Given the description of an element on the screen output the (x, y) to click on. 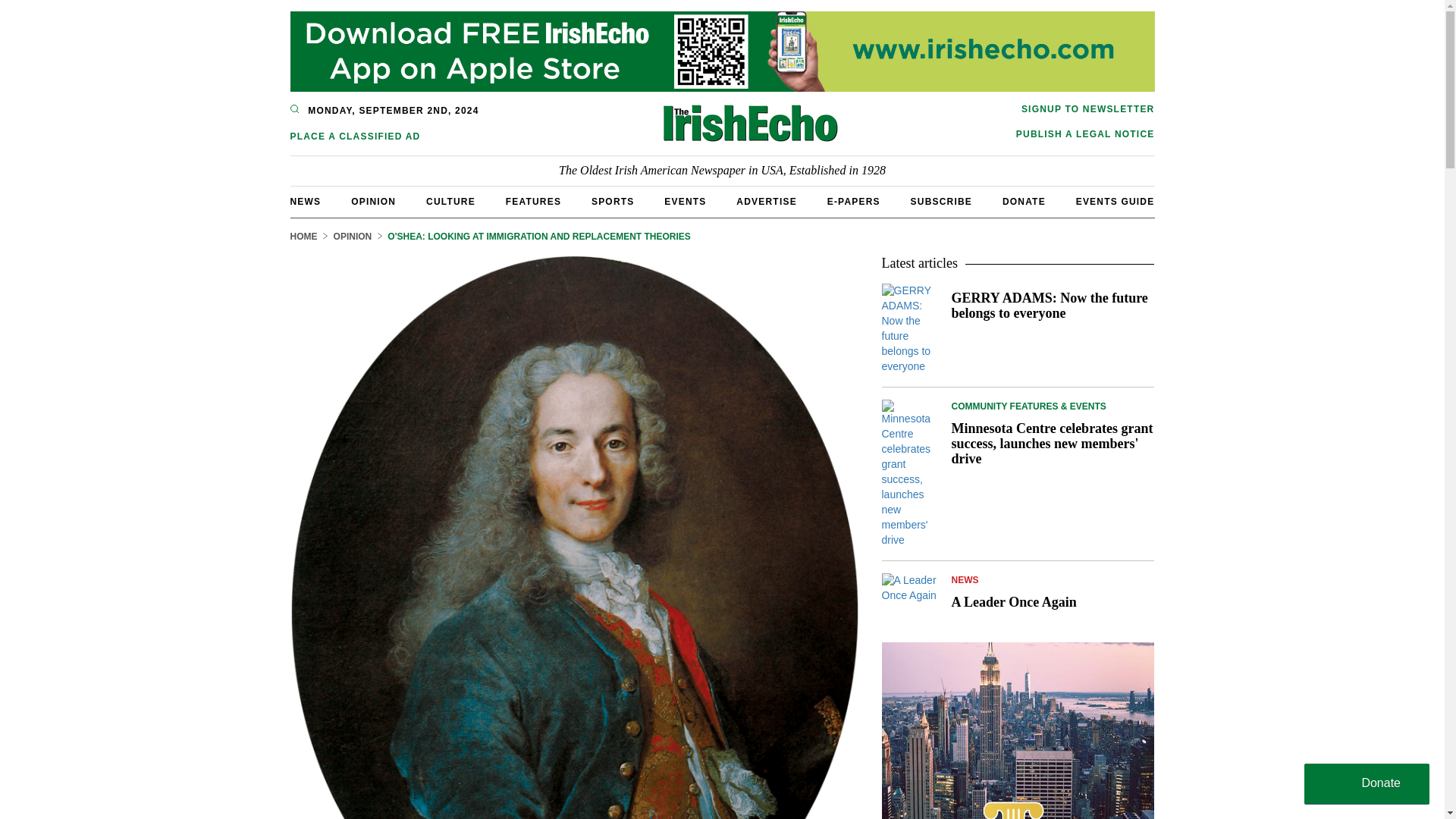
EVENTS GUIDE (1114, 201)
ADVERTISE (766, 201)
EVENTS (684, 201)
CULTURE (451, 201)
SPORTS (612, 201)
PUBLISH A LEGAL NOTICE (1085, 133)
SUBSCRIBE (941, 201)
DONATE (1024, 201)
NEWS (304, 201)
FEATURES (532, 201)
